Given the description of an element on the screen output the (x, y) to click on. 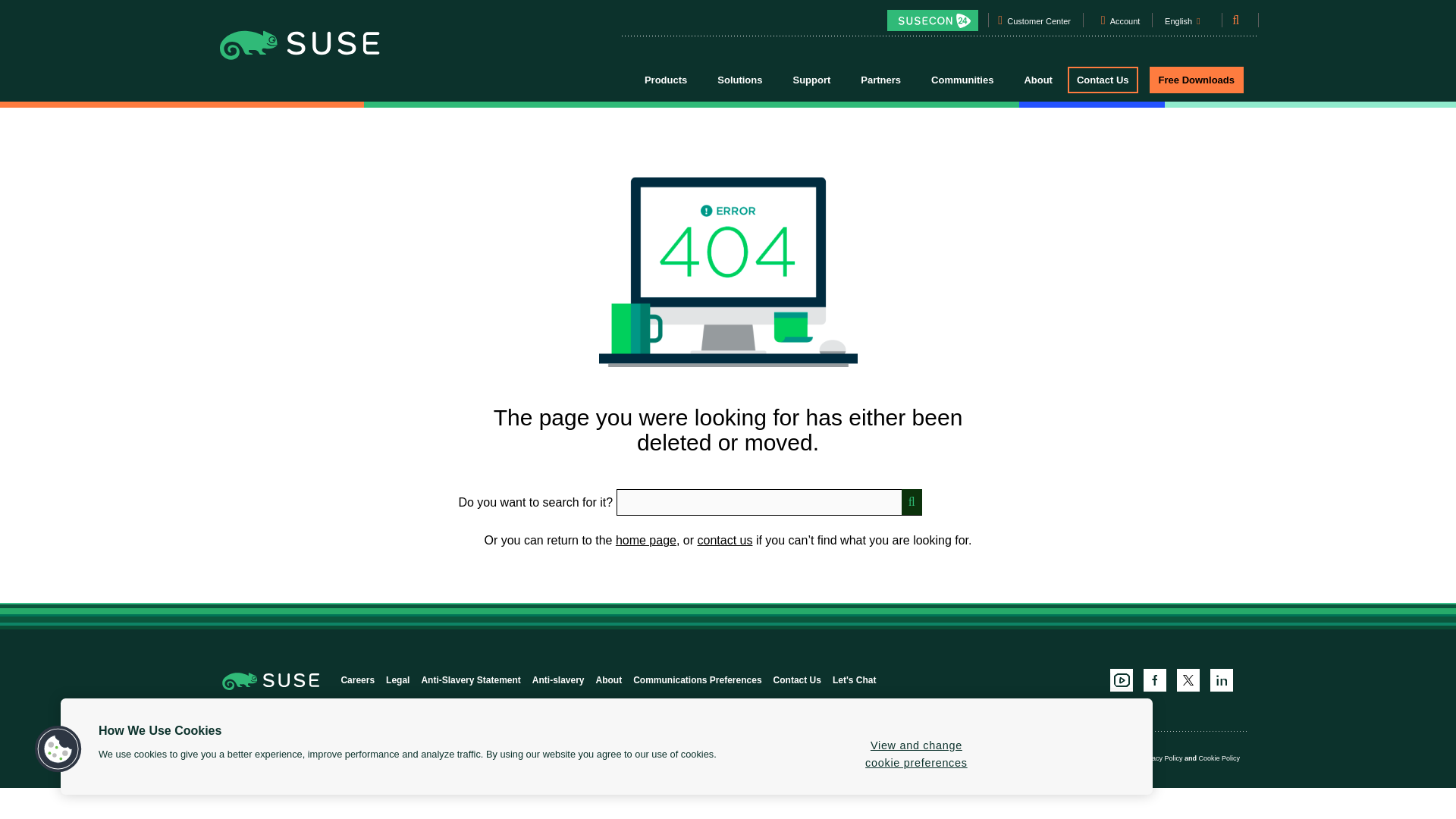
Legal (397, 679)
Careers (357, 679)
Account (1125, 23)
Let's Chat (854, 679)
Anti-Slavery Statement (469, 679)
Contact Us (797, 679)
Cookies Button (57, 748)
Anti-slavery (558, 679)
About (609, 679)
Customer Center (1038, 23)
Products (664, 79)
Communications Preferences (697, 679)
